Given the description of an element on the screen output the (x, y) to click on. 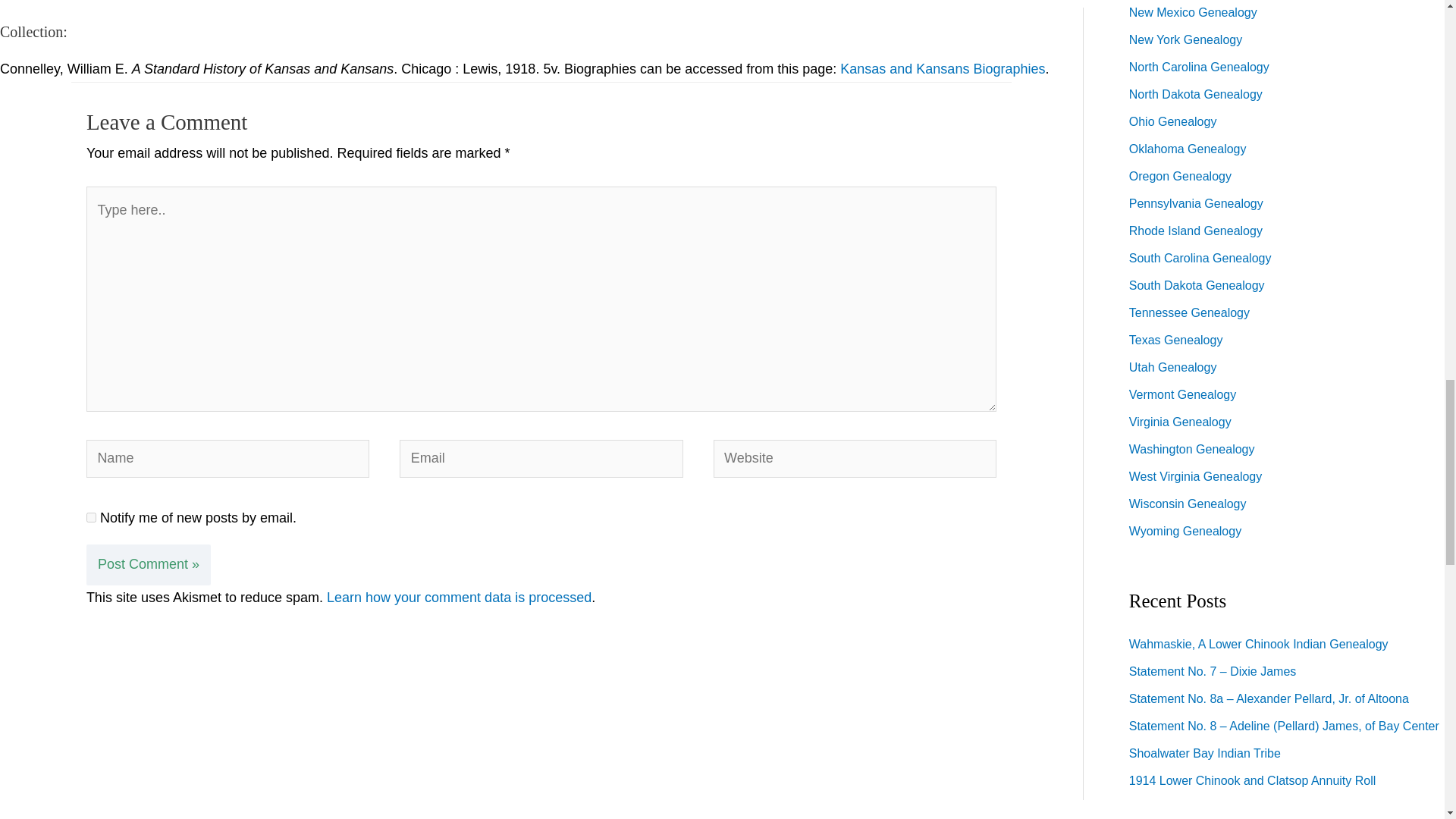
Kansas and Kansans Biographies (942, 68)
Learn how your comment data is processed (458, 597)
subscribe (90, 517)
Kansas and Kansans Biographies (942, 68)
